Given the description of an element on the screen output the (x, y) to click on. 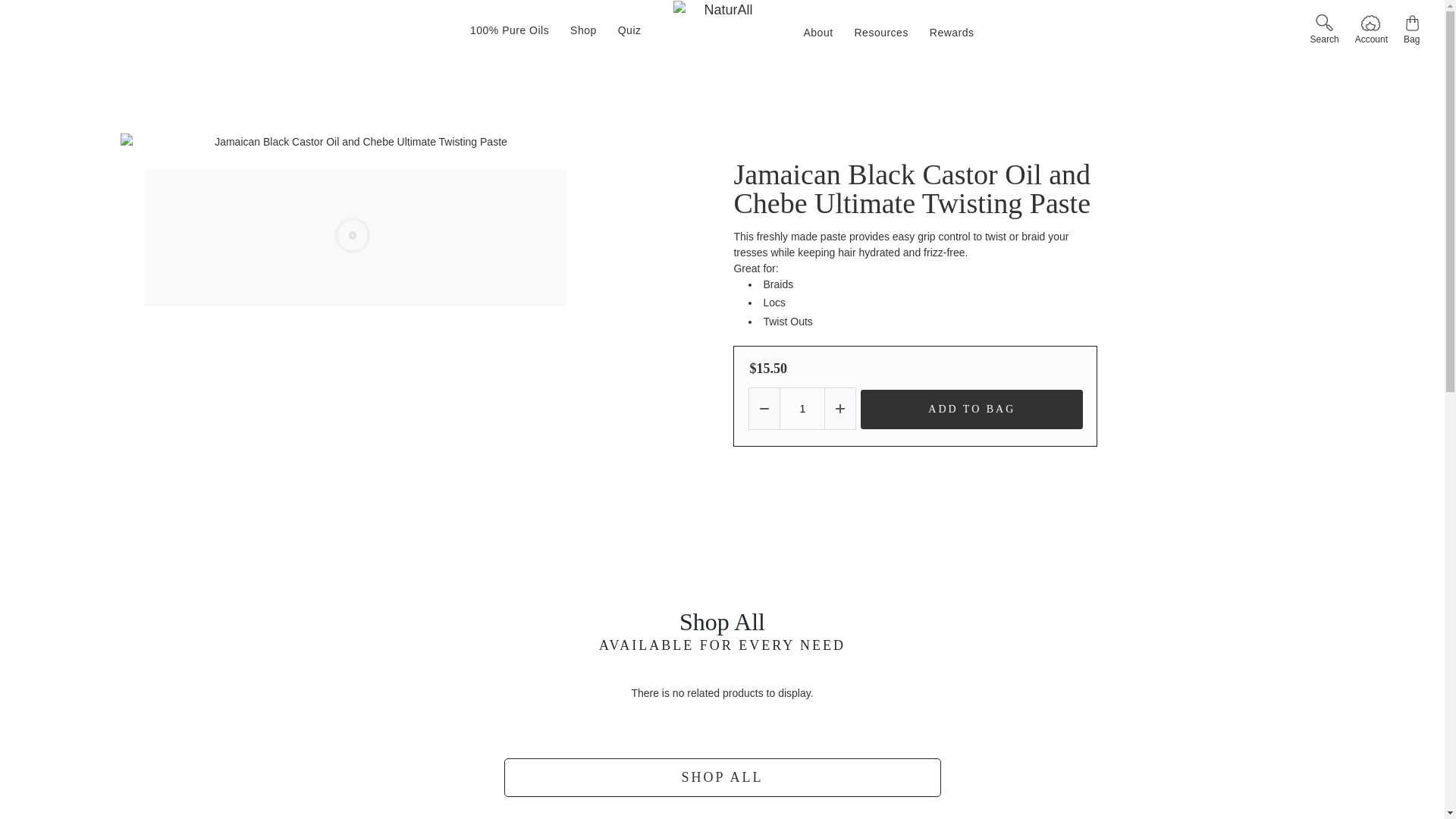
Shop (582, 29)
Account (1370, 29)
1 (801, 408)
